Given the description of an element on the screen output the (x, y) to click on. 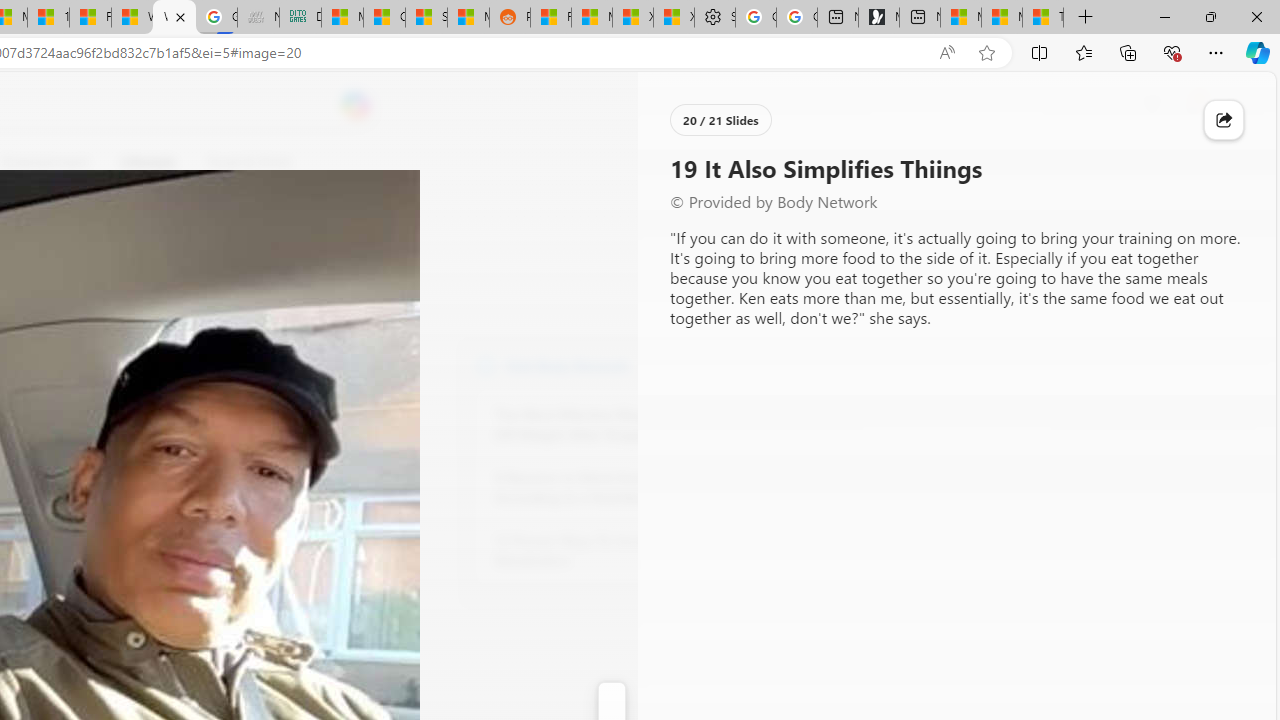
Microsoft Start Gaming (878, 17)
Open Copilot (356, 105)
These 3 Stocks Pay You More Than 5% to Own Them (1042, 17)
Microsoft rewards (1151, 105)
12 Proven Ways To Increase Your Metabolism (603, 550)
